Given the description of an element on the screen output the (x, y) to click on. 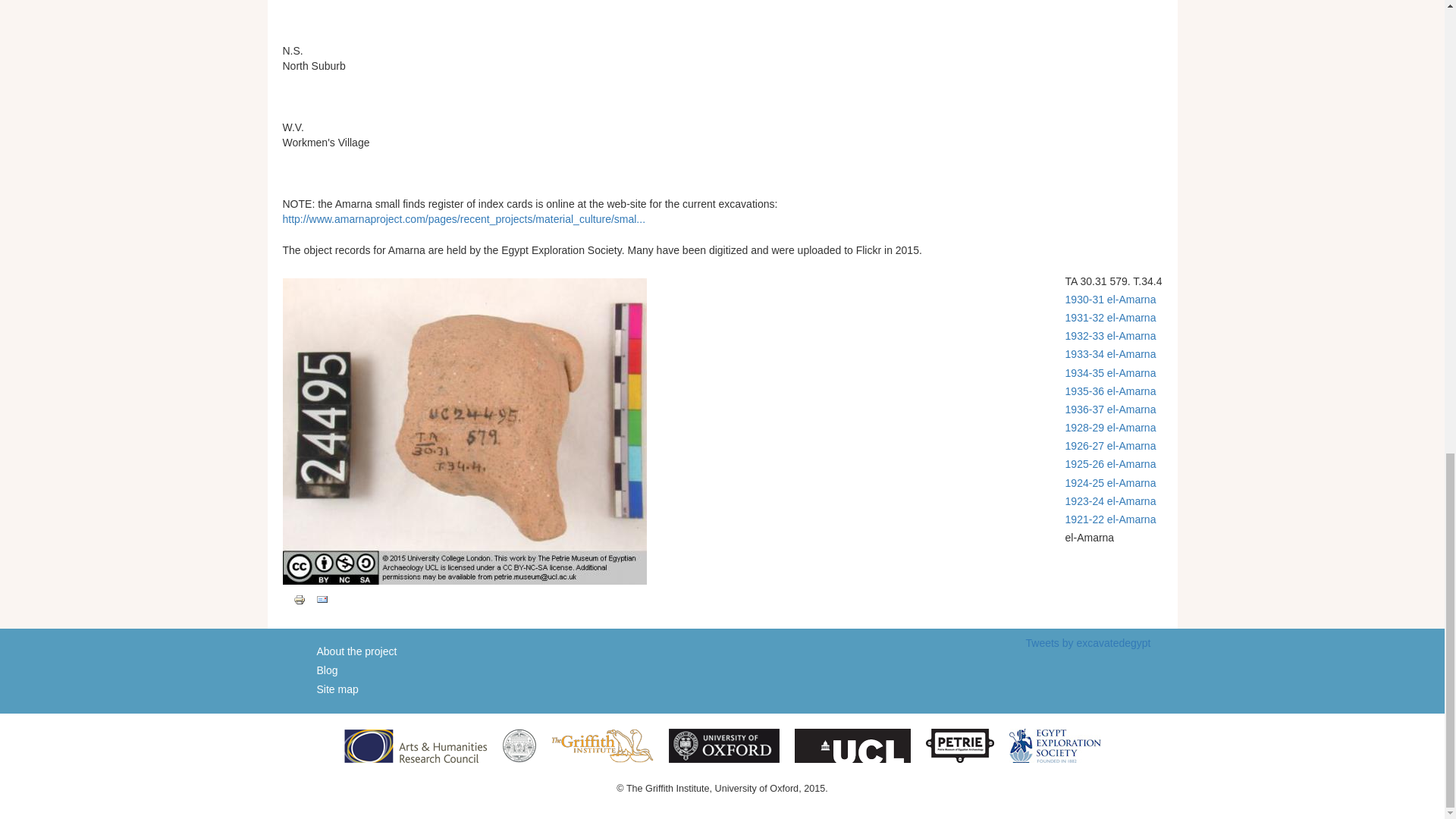
1932-33 el-Amarna (1110, 336)
1923-24 el-Amarna (1110, 500)
1936-37 el-Amarna (1110, 409)
1935-36 el-Amarna (1110, 390)
Display a printer-friendly version of this page. (298, 598)
Send this page by email. (321, 598)
1933-34 el-Amarna (1110, 354)
1930-31 el-Amarna (1110, 299)
About the project (357, 651)
Send by email (321, 599)
1928-29 el-Amarna (1110, 427)
1926-27 el-Amarna (1110, 445)
1934-35 el-Amarna (1110, 372)
AHRC (414, 745)
1921-22 el-Amarna (1110, 519)
